Given the description of an element on the screen output the (x, y) to click on. 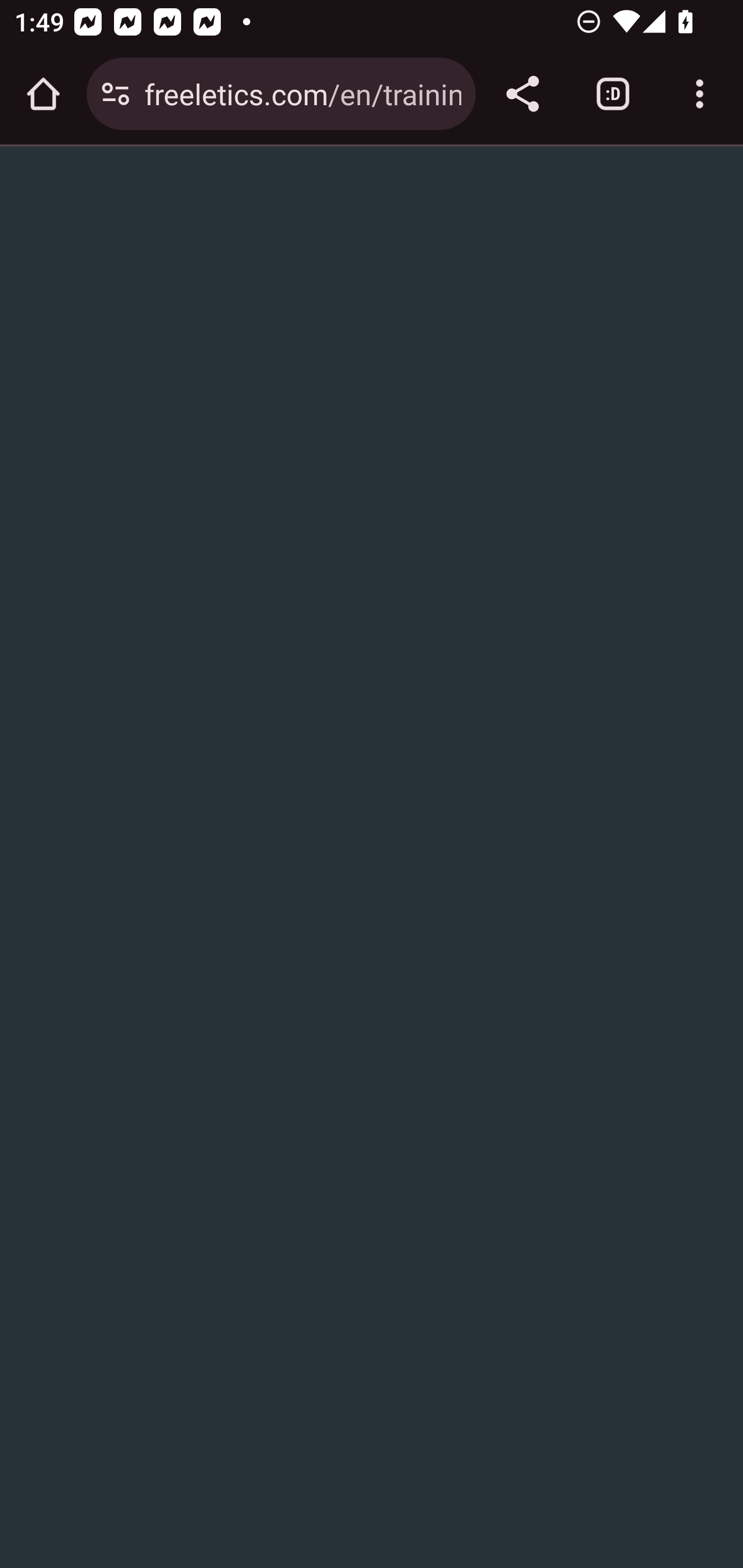
Open the home page (43, 93)
Connection is secure (115, 93)
Share (522, 93)
Switch or close tabs (612, 93)
Customize and control Google Chrome (699, 93)
